Given the description of an element on the screen output the (x, y) to click on. 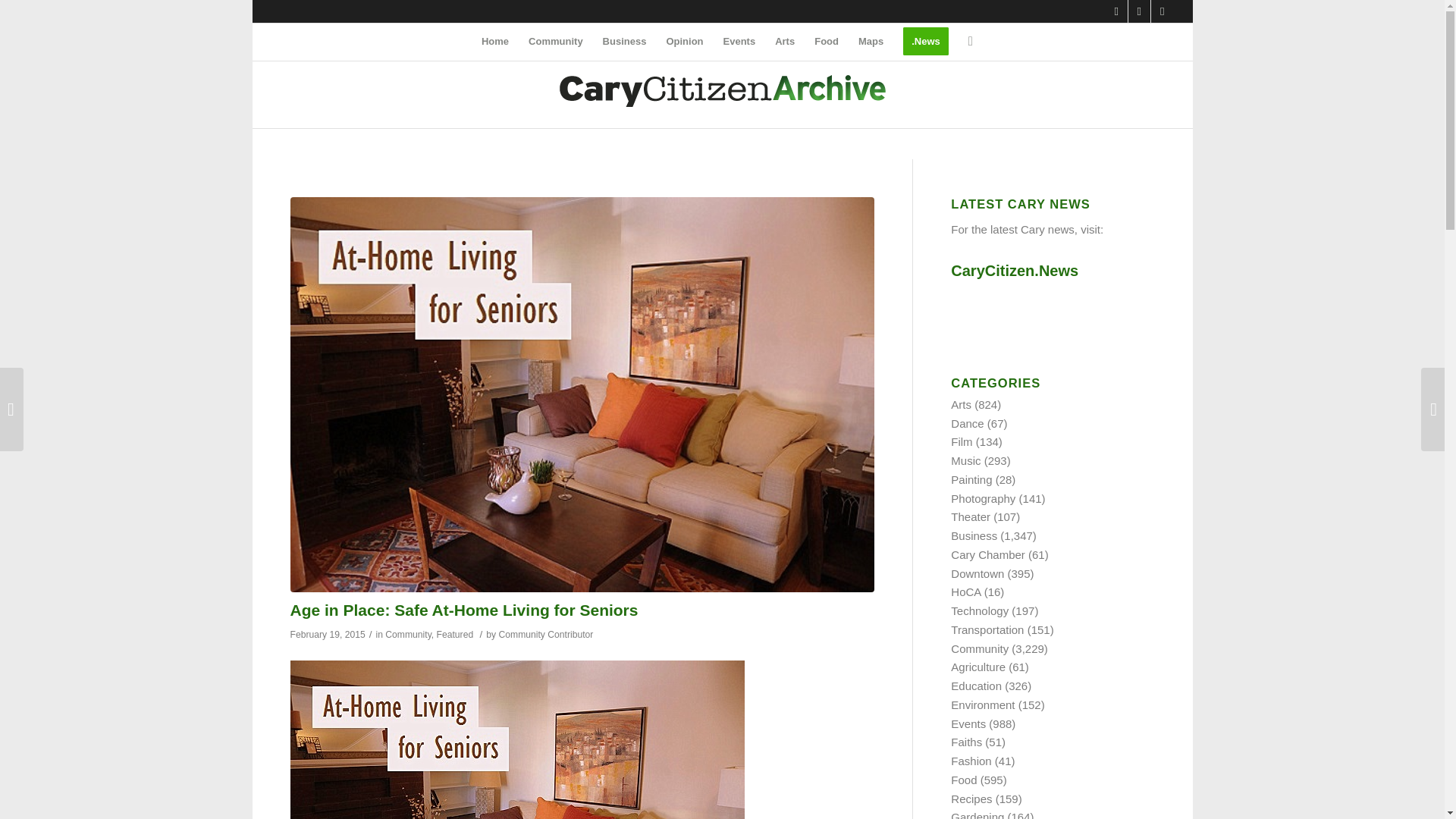
Arts (785, 41)
Community (555, 41)
Community Contributor (546, 634)
Opinion (684, 41)
Business (624, 41)
Community (407, 634)
Age in Place: Safe At-Home Living for Seniors (463, 610)
Food (826, 41)
Maps (870, 41)
Featured (455, 634)
Events (739, 41)
Posts by Community Contributor (546, 634)
Home (494, 41)
